Given the description of an element on the screen output the (x, y) to click on. 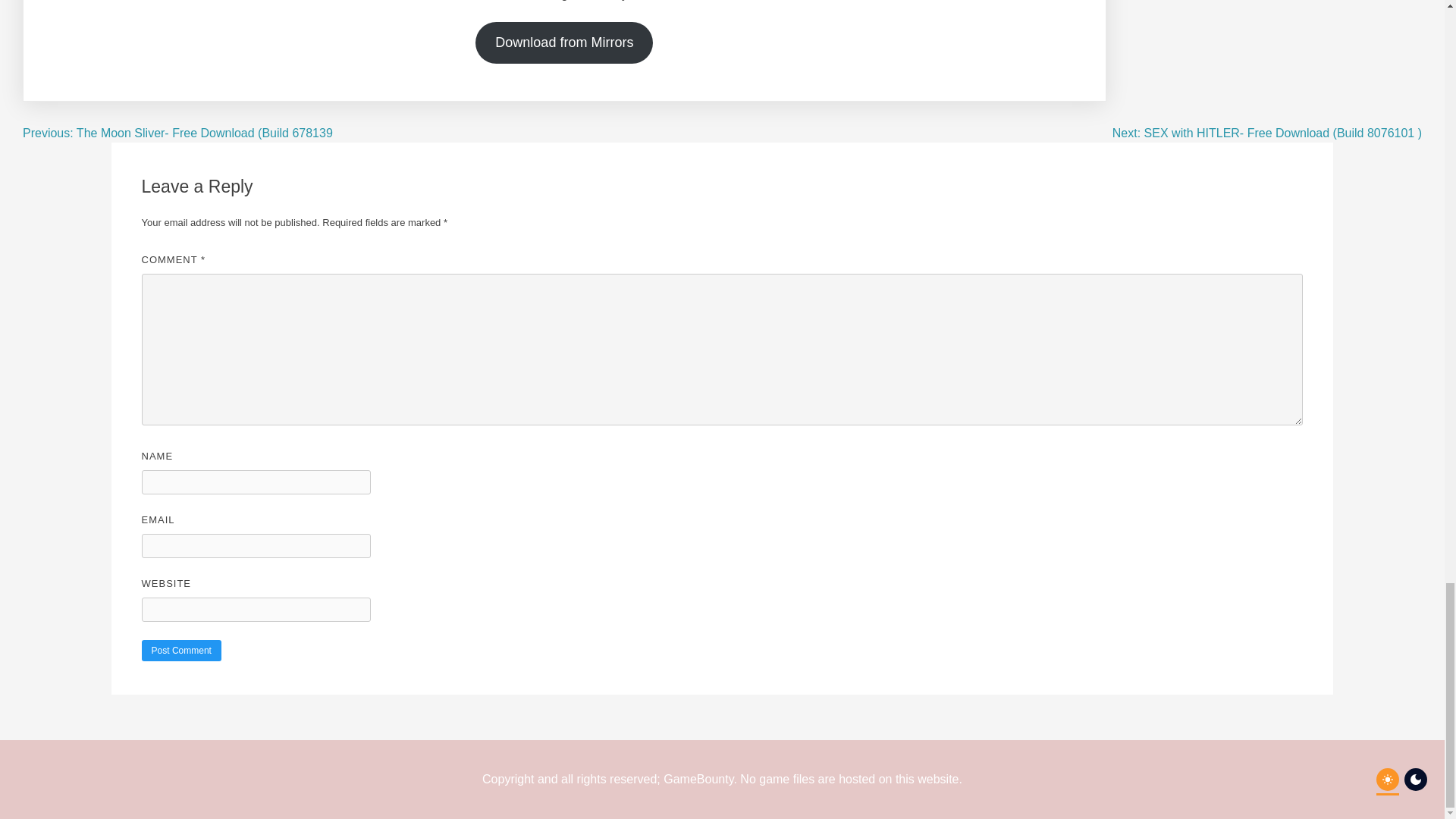
Post Comment (181, 649)
Download from Mirrors (564, 42)
Post Comment (181, 649)
